Given the description of an element on the screen output the (x, y) to click on. 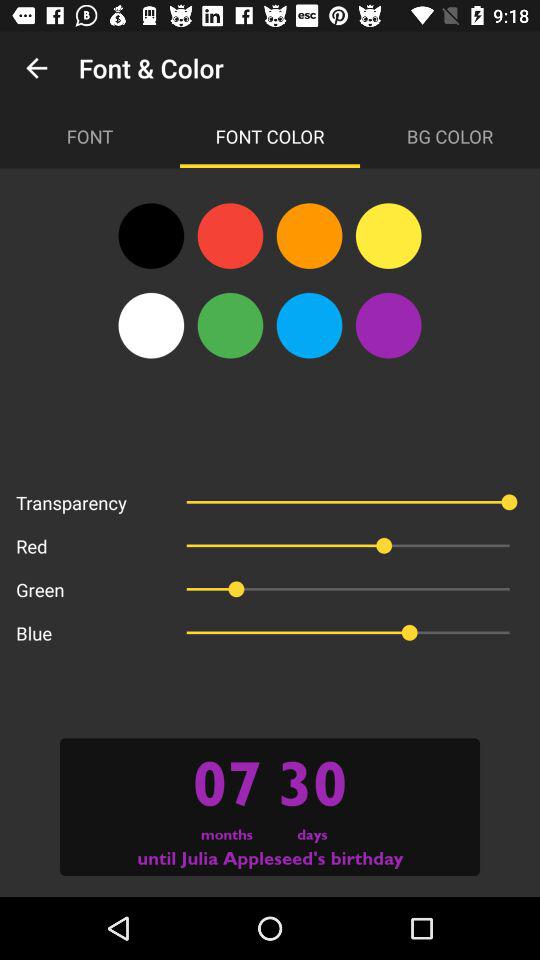
open icon above the font item (36, 68)
